Given the description of an element on the screen output the (x, y) to click on. 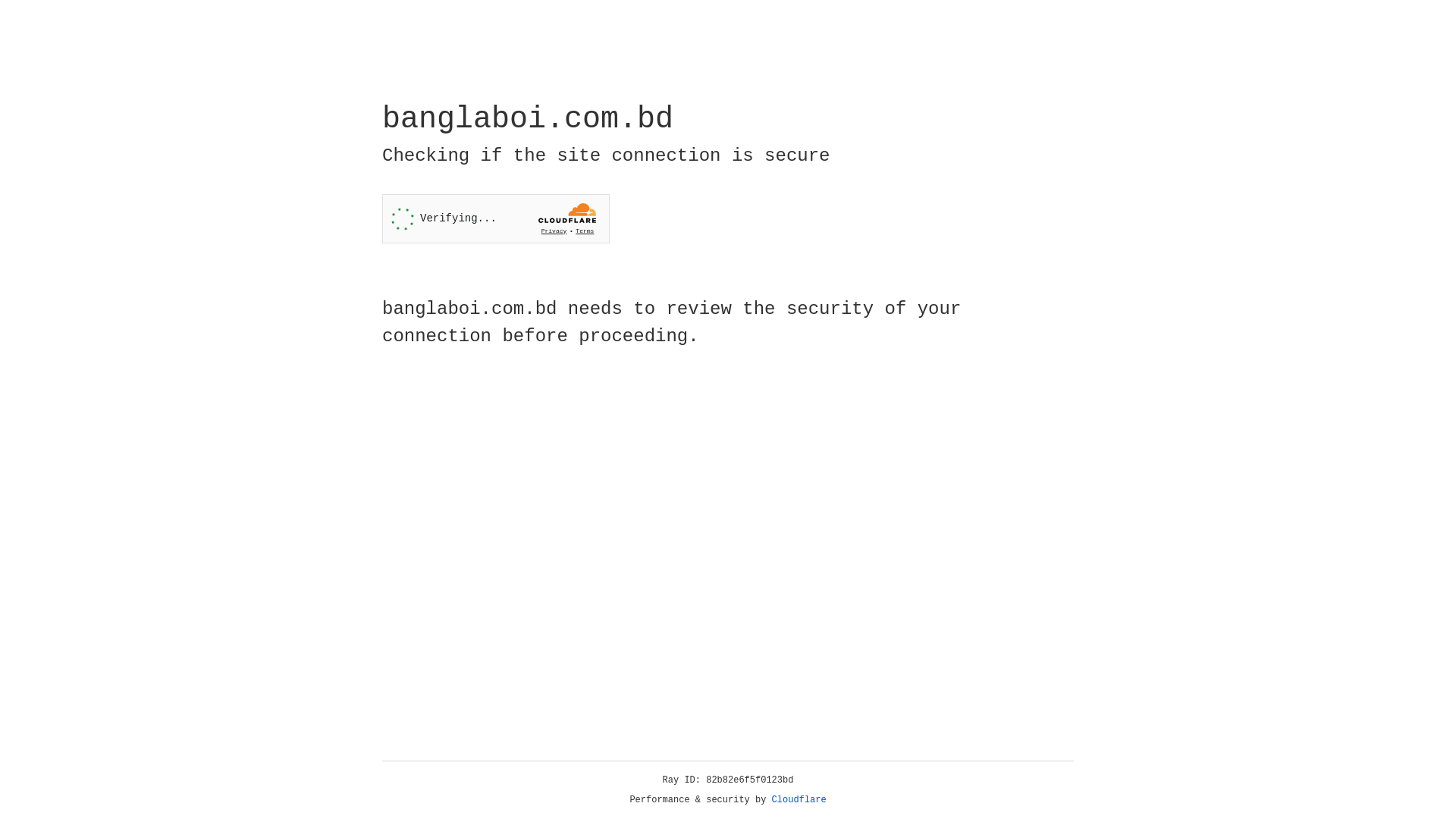
Widget containing a Cloudflare security challenge Element type: hover (495, 218)
Cloudflare Element type: text (798, 799)
